Given the description of an element on the screen output the (x, y) to click on. 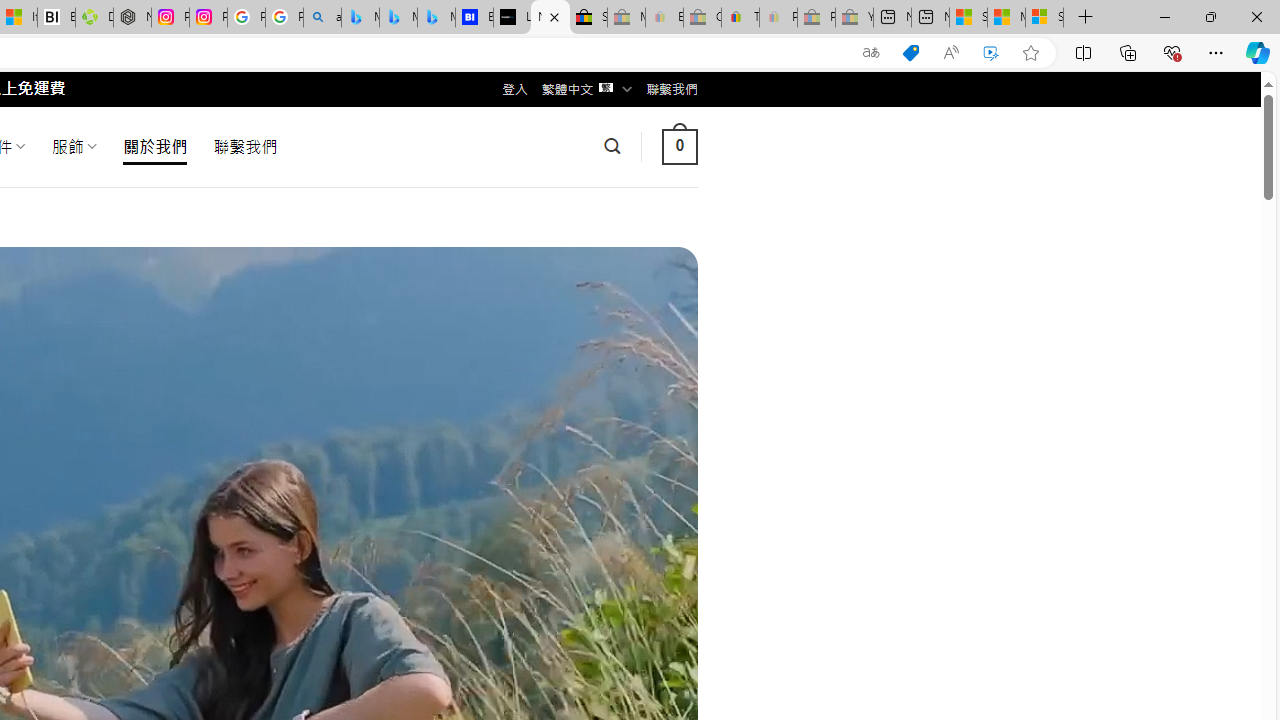
  0   (679, 146)
Selling on eBay | Electronics, Fashion, Home & Garden | eBay (587, 17)
Nordace - Nordace Edin Collection (132, 17)
